Given the description of an element on the screen output the (x, y) to click on. 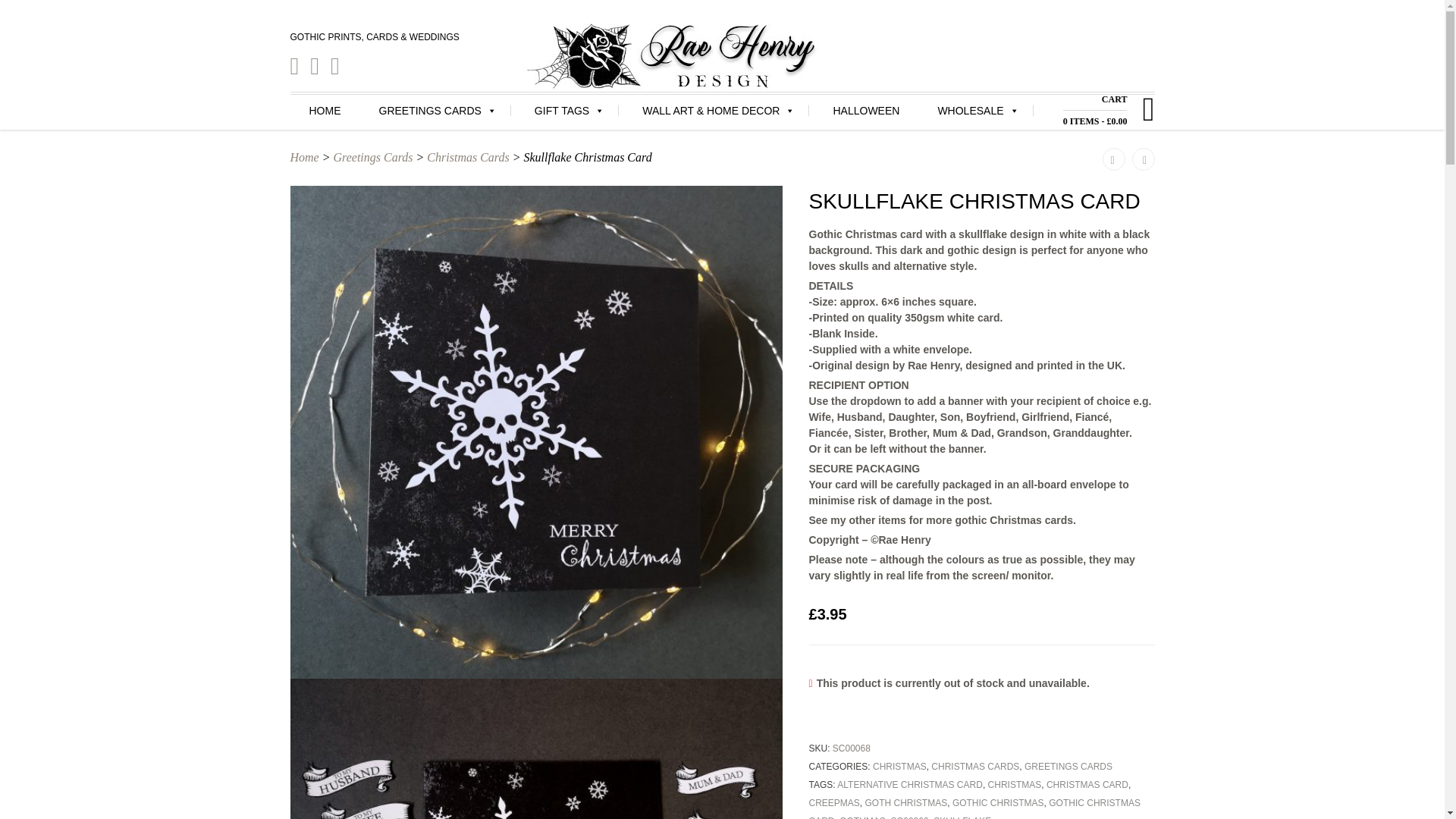
HOME (324, 110)
Home (303, 156)
Previous Product (1113, 159)
GIFT TAGS (569, 110)
GREETINGS CARDS (437, 110)
HALLOWEEN (865, 110)
Next Product (1142, 159)
christmas cards pic skullflake b (536, 748)
